Given the description of an element on the screen output the (x, y) to click on. 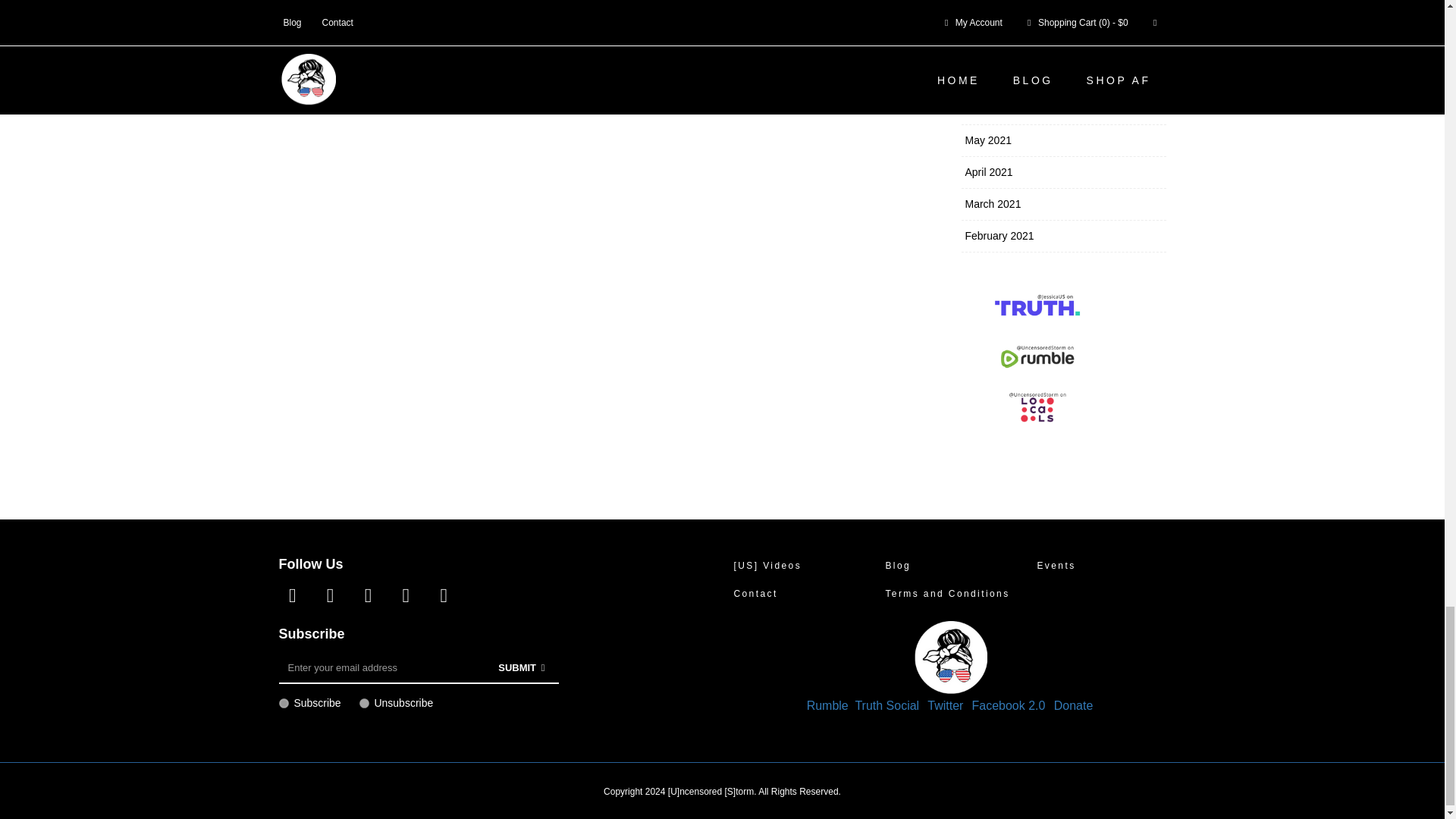
1 (283, 703)
Like Us on Facebook (292, 595)
0 (364, 703)
Follow Us on Twitter (329, 595)
Subscribe to our Blog (443, 595)
Follow Us on Instagram (405, 595)
Subscribe to our Channel (367, 595)
